Given the description of an element on the screen output the (x, y) to click on. 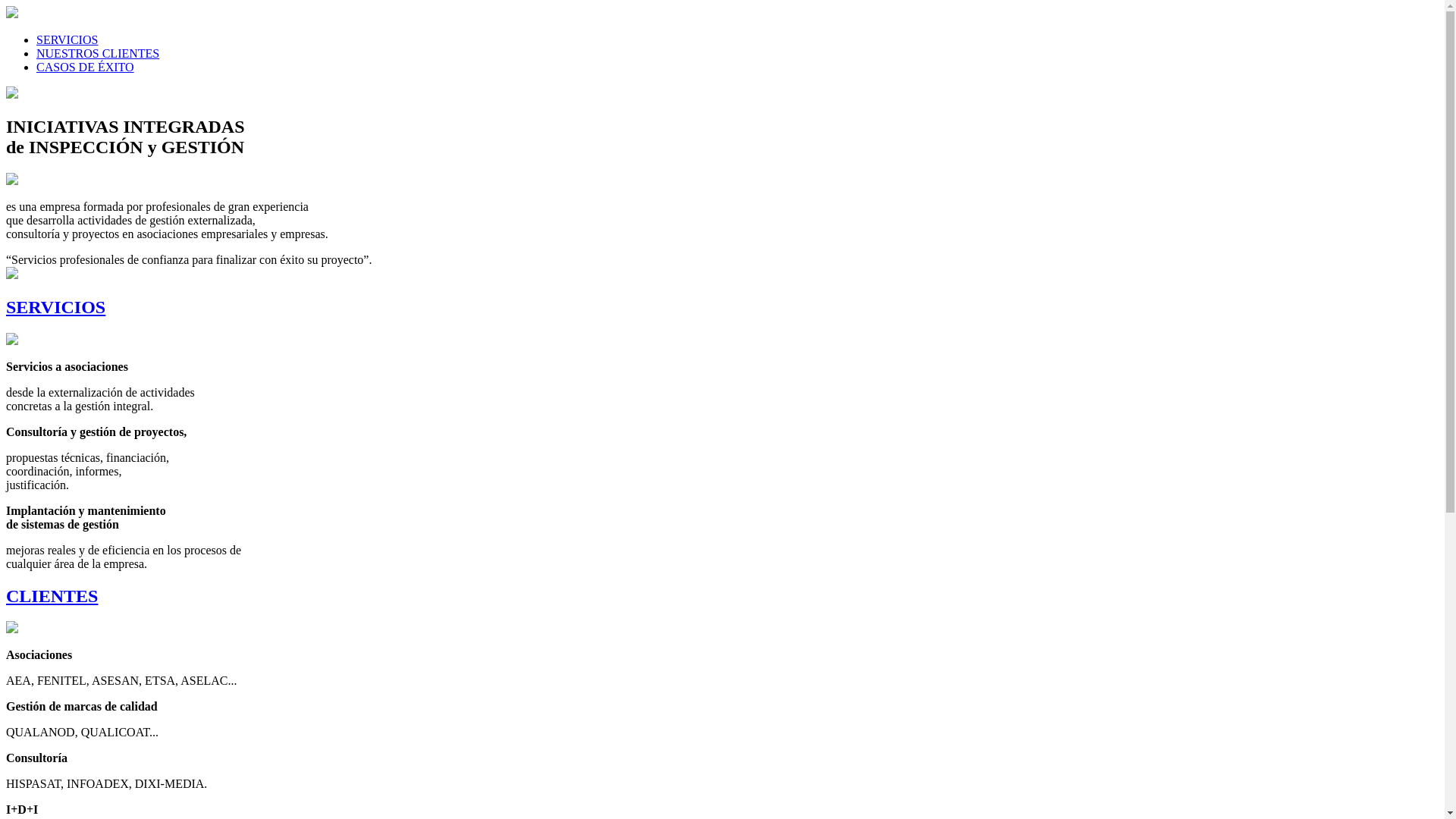
CLIENTES Element type: text (722, 611)
SERVICIOS Element type: text (66, 39)
NUESTROS CLIENTES Element type: text (97, 53)
SERVICIOS Element type: text (722, 322)
